Given the description of an element on the screen output the (x, y) to click on. 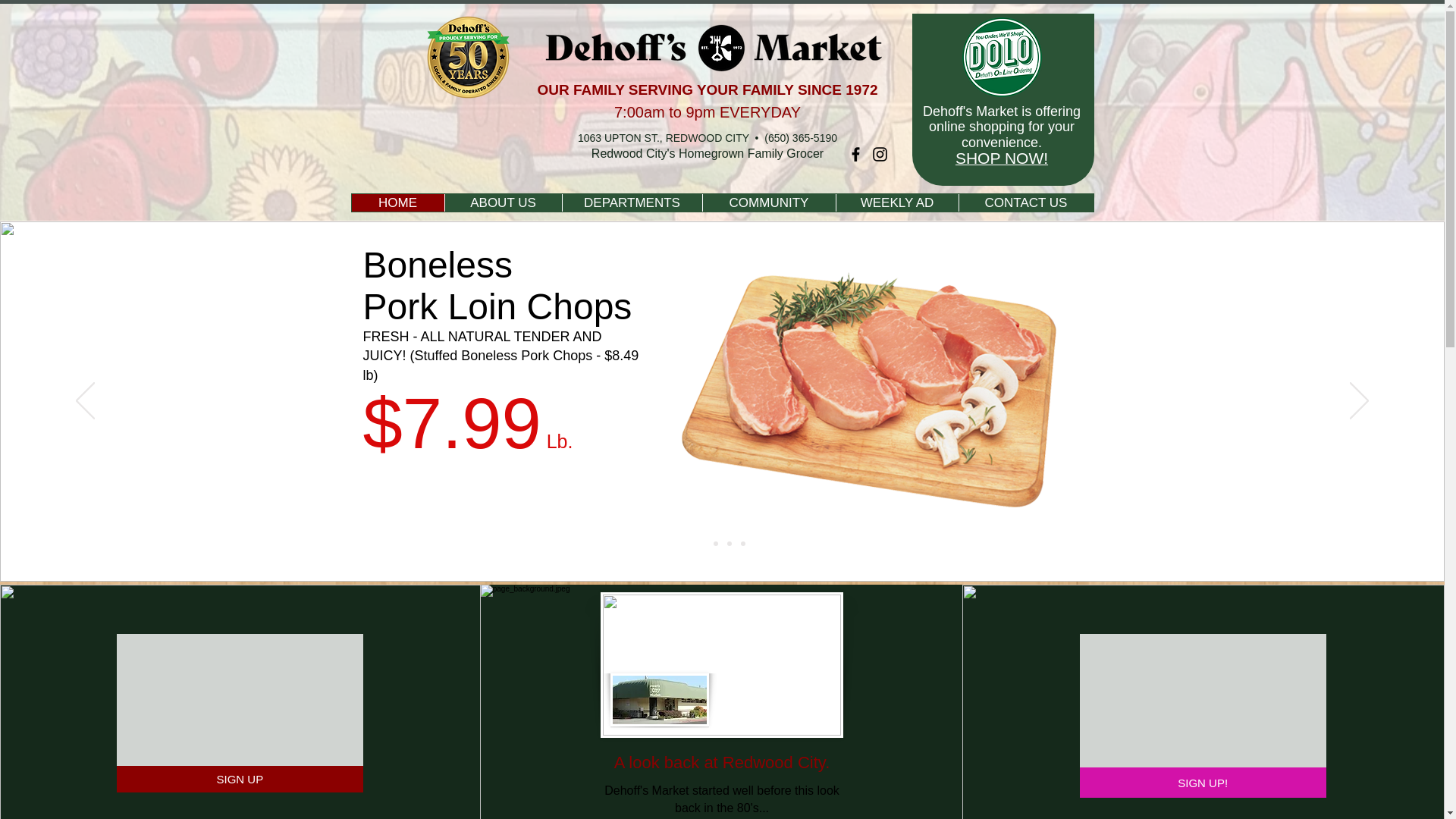
COMMUNITY (768, 202)
SHOP NOW! (1001, 160)
HOME (398, 202)
SIGN UP! (1203, 782)
ABOUT US (503, 202)
SIGN UP (239, 778)
DEPARTMENTS (630, 202)
CONTACT US (1025, 202)
WEEKLY AD (896, 202)
